Given the description of an element on the screen output the (x, y) to click on. 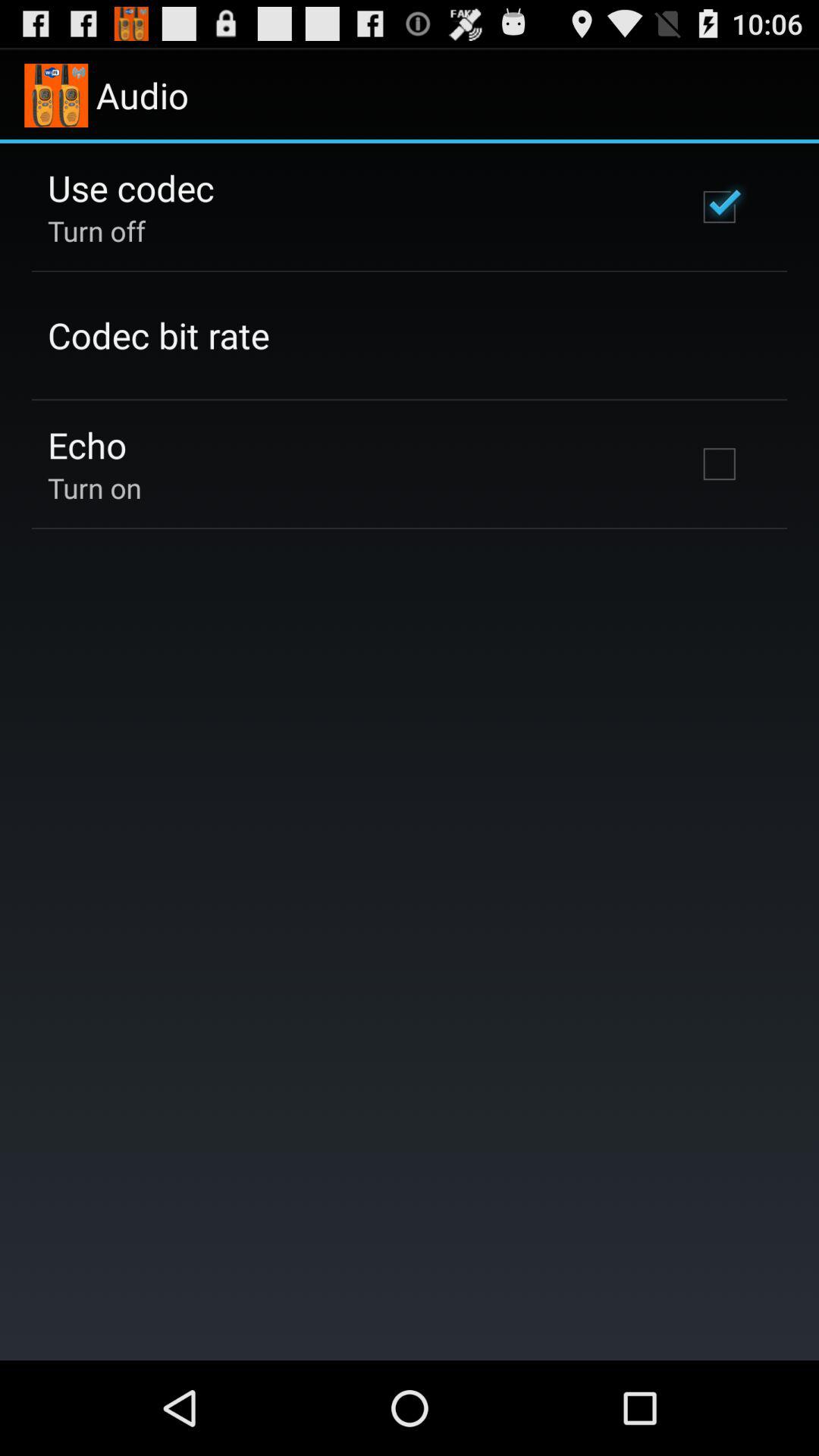
flip until the turn on item (94, 487)
